Given the description of an element on the screen output the (x, y) to click on. 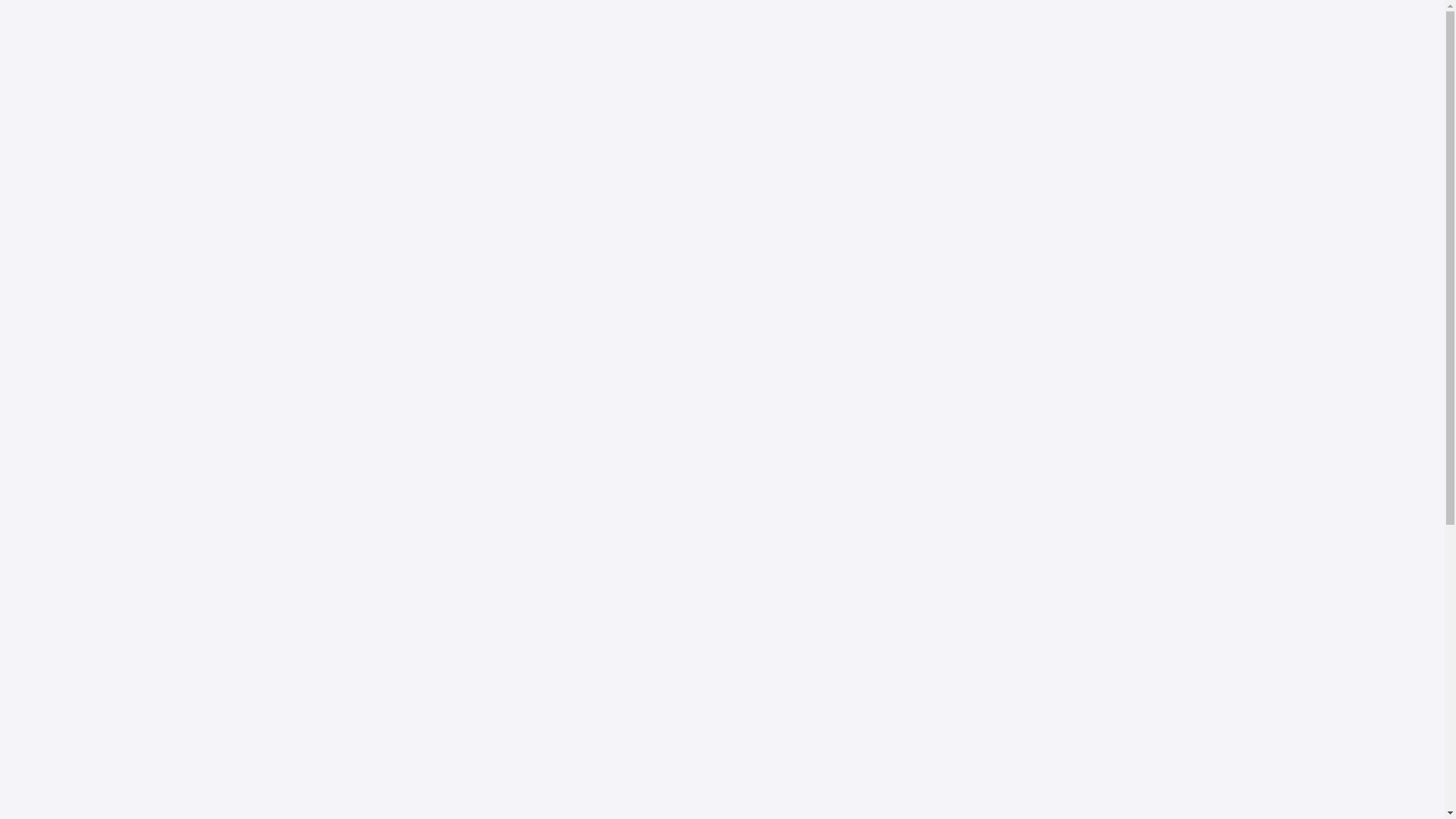
About Element type: text (792, 77)
Home Element type: text (736, 77)
Departments Element type: text (865, 77)
Contact Element type: text (1111, 77)
Gallery Element type: text (941, 77)
Old Site Element type: text (1138, 20)
News & Events Element type: text (1026, 77)
HOME Element type: text (721, 666)
